Given the description of an element on the screen output the (x, y) to click on. 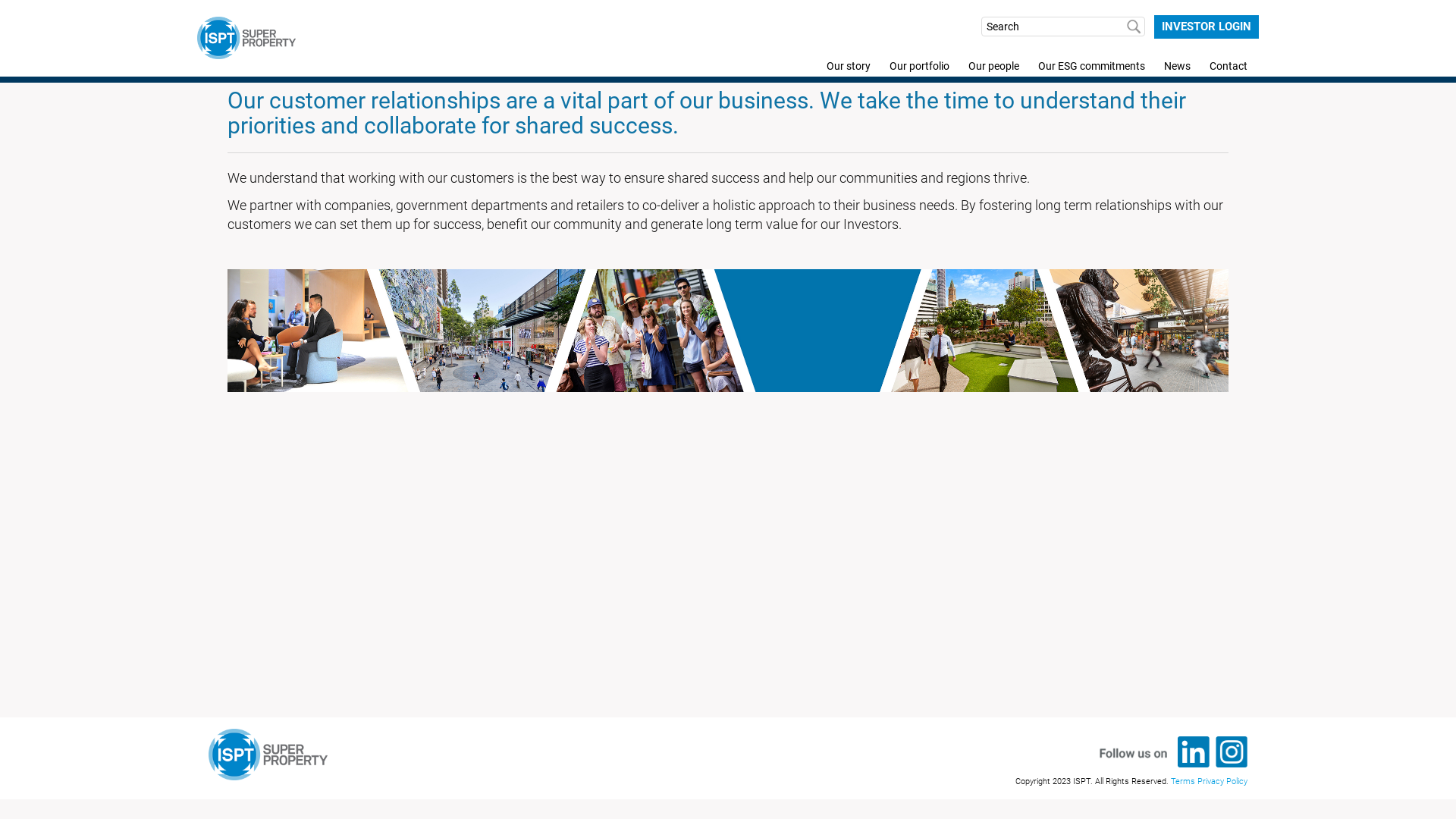
Terms Element type: text (1182, 781)
Our ESG commitments Element type: text (1083, 65)
News Element type: text (1168, 65)
INVESTOR LOGIN Element type: text (1206, 26)
Contact Element type: text (1219, 65)
Our people Element type: text (985, 65)
ISPT Element type: hover (246, 37)
ISPT Element type: hover (246, 37)
ISPT Element type: hover (267, 756)
Our portfolio Element type: text (910, 65)
Privacy Policy Element type: text (1222, 781)
Our story Element type: text (839, 65)
